Given the description of an element on the screen output the (x, y) to click on. 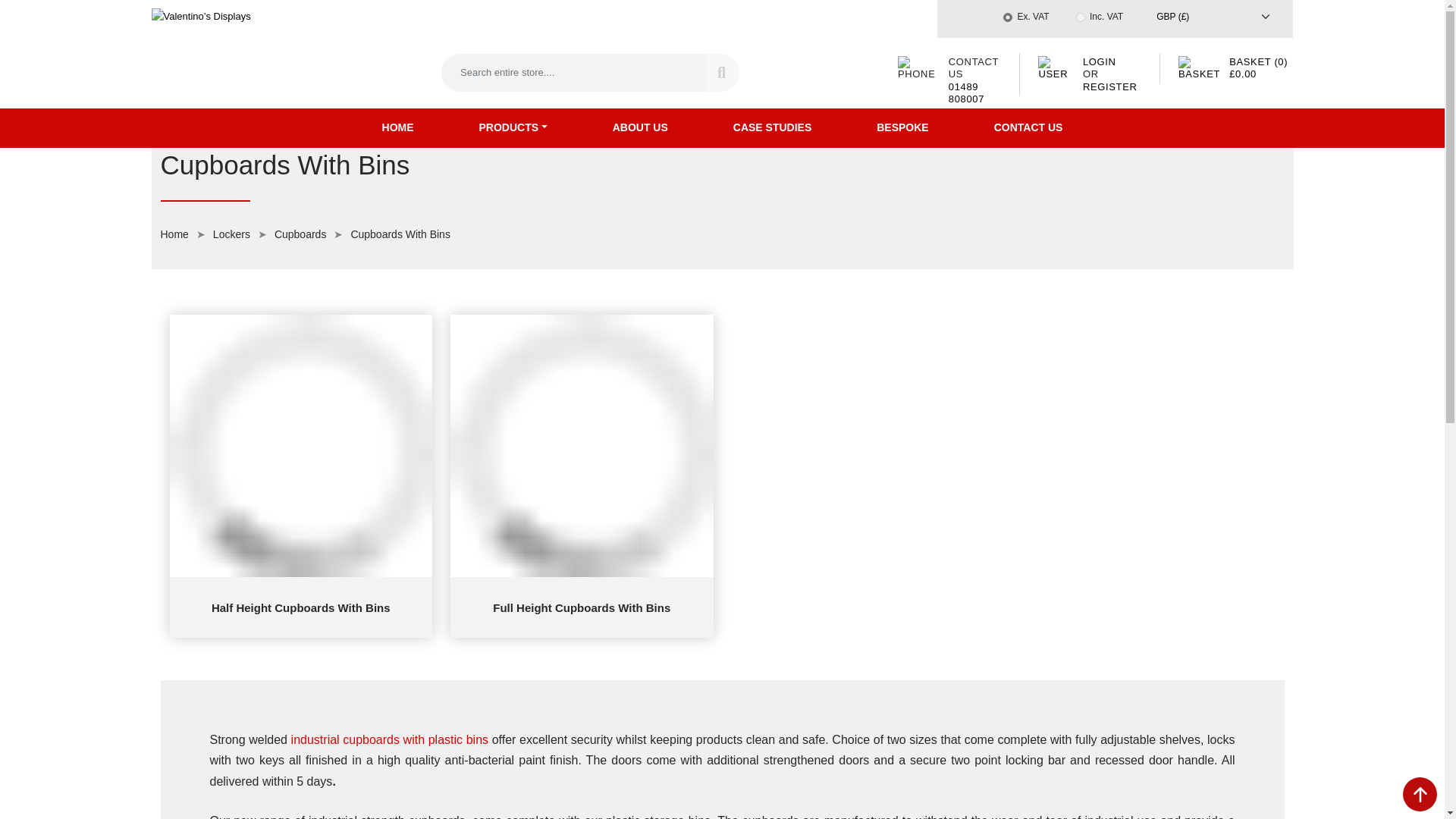
EXC (1007, 17)
Register Now (1110, 85)
PRODUCTS (513, 128)
INC (1079, 17)
01489 808007 (966, 92)
Customer Login (1099, 61)
REGISTER (1110, 85)
My Account (1056, 67)
Basket (1257, 67)
LOGIN (1099, 61)
